Given the description of an element on the screen output the (x, y) to click on. 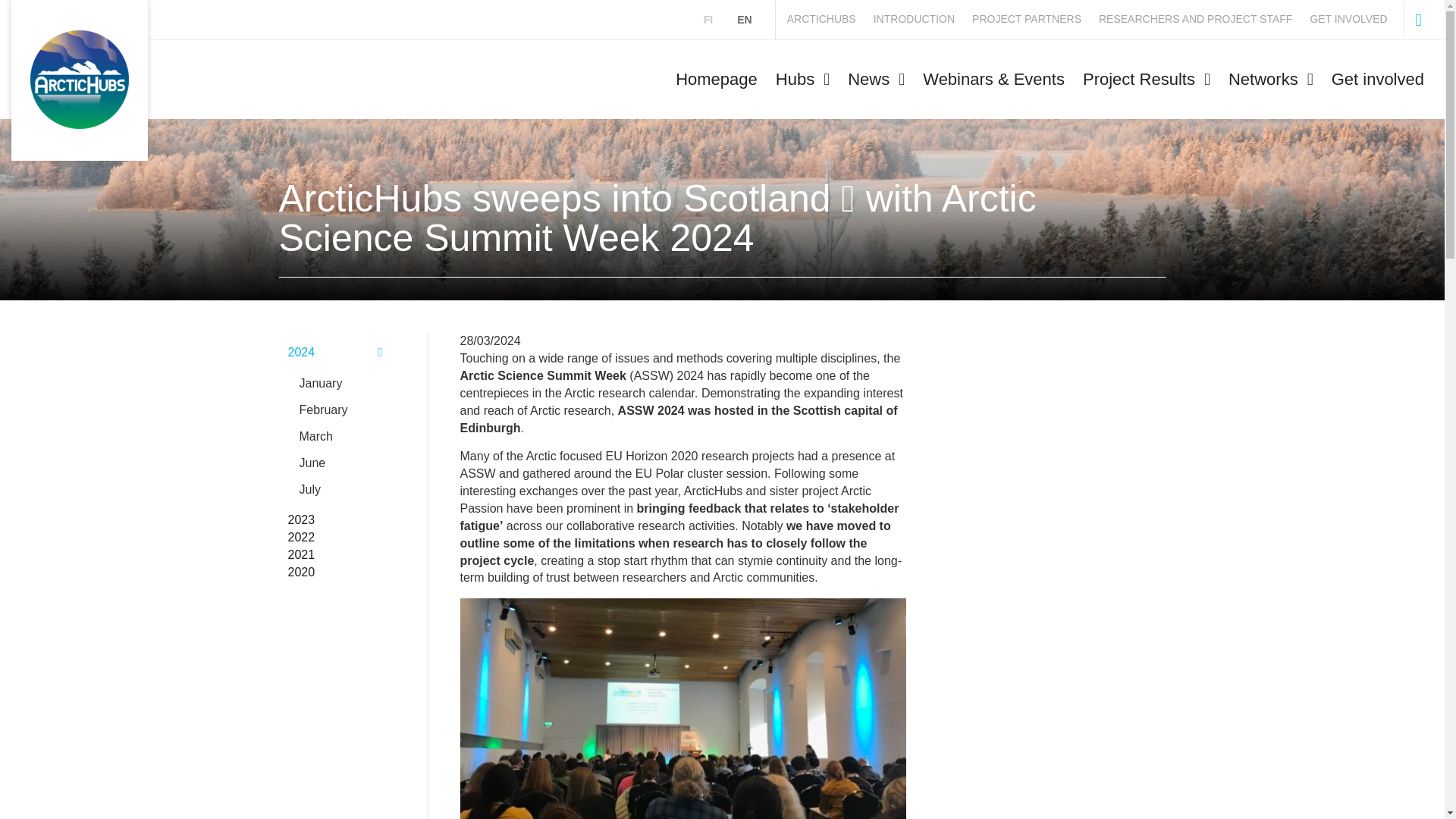
INTRODUCTION (922, 19)
Homepage (716, 79)
Networks (1271, 79)
GET INVOLVED (1355, 19)
Project Results (1147, 79)
PROJECT PARTNERS (1034, 19)
Hubs (802, 79)
News (876, 79)
ARCTICHUBS (829, 19)
RESEARCHERS AND PROJECT STAFF (1203, 19)
Get involved (1377, 79)
EN (743, 19)
